Given the description of an element on the screen output the (x, y) to click on. 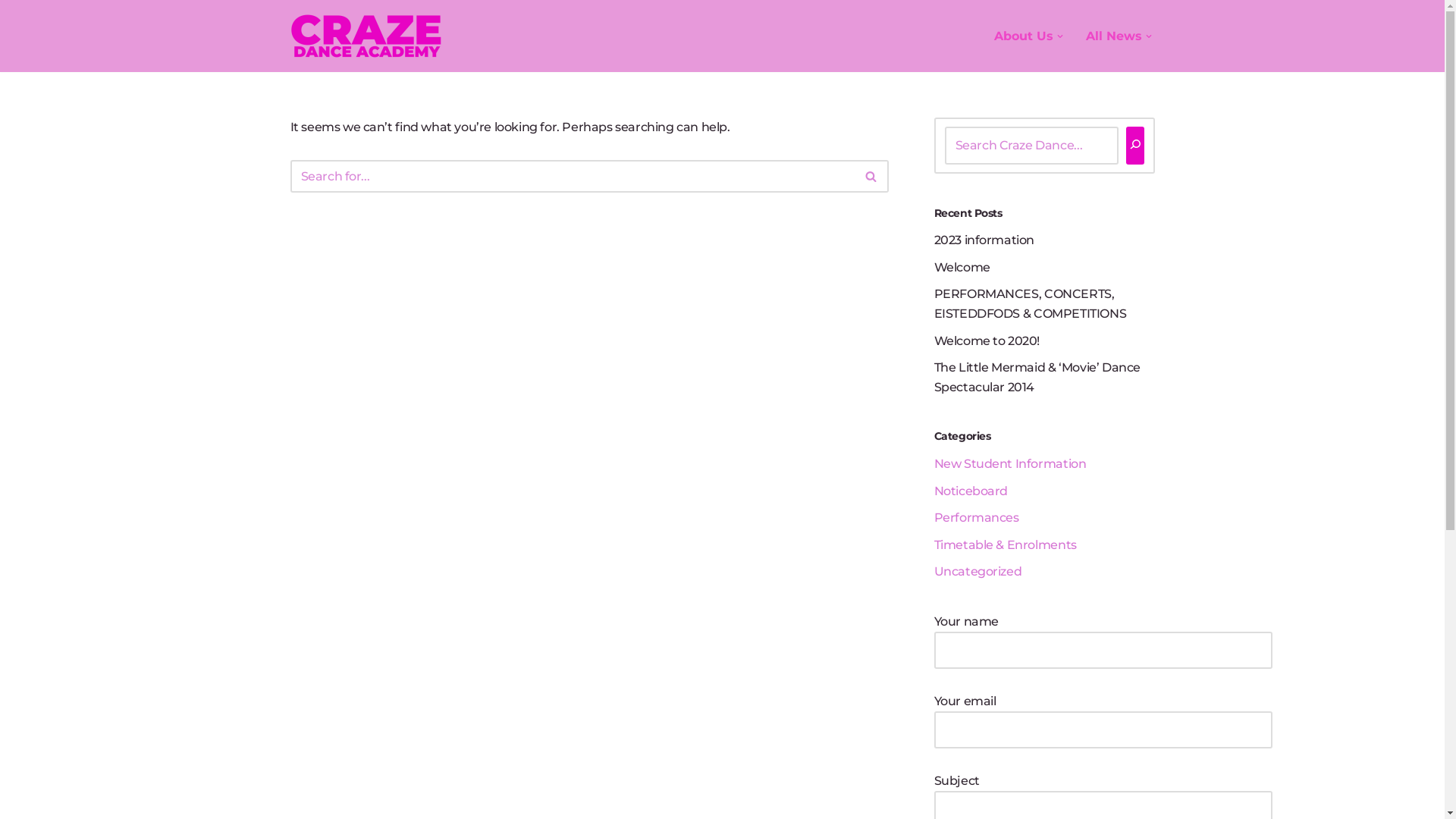
Welcome Element type: text (962, 267)
2023 information Element type: text (984, 239)
Skip to content Element type: text (11, 31)
Welcome to 2020! Element type: text (987, 340)
All News Element type: text (1113, 35)
Timetable & Enrolments Element type: text (1005, 544)
New Student Information Element type: text (1010, 463)
Noticeboard Element type: text (971, 490)
Uncategorized Element type: text (978, 571)
PERFORMANCES, CONCERTS, EISTEDDFODS & COMPETITIONS Element type: text (1030, 303)
About Us Element type: text (1022, 35)
Performances Element type: text (976, 517)
